Given the description of an element on the screen output the (x, y) to click on. 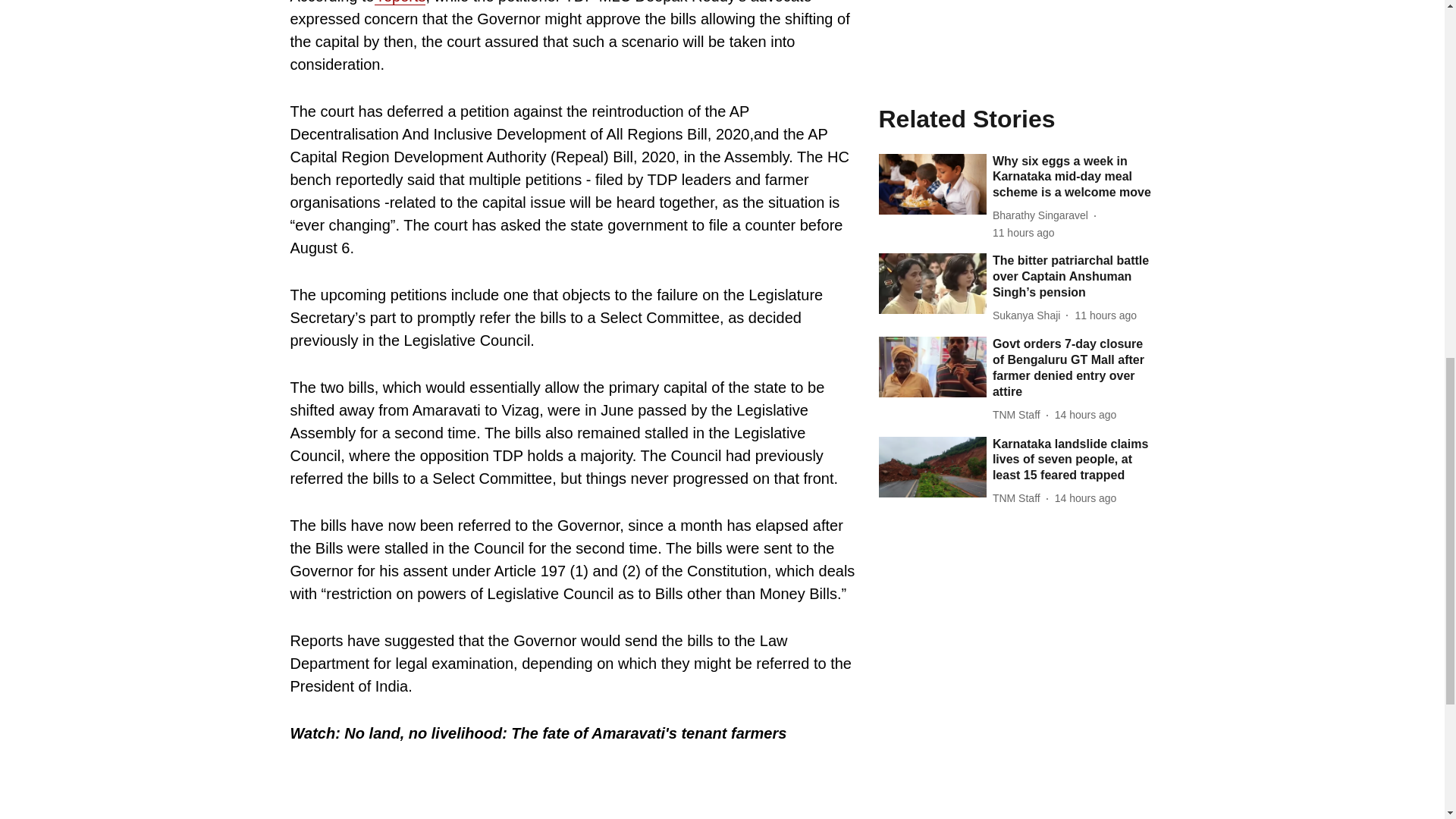
reports (400, 2)
